Given the description of an element on the screen output the (x, y) to click on. 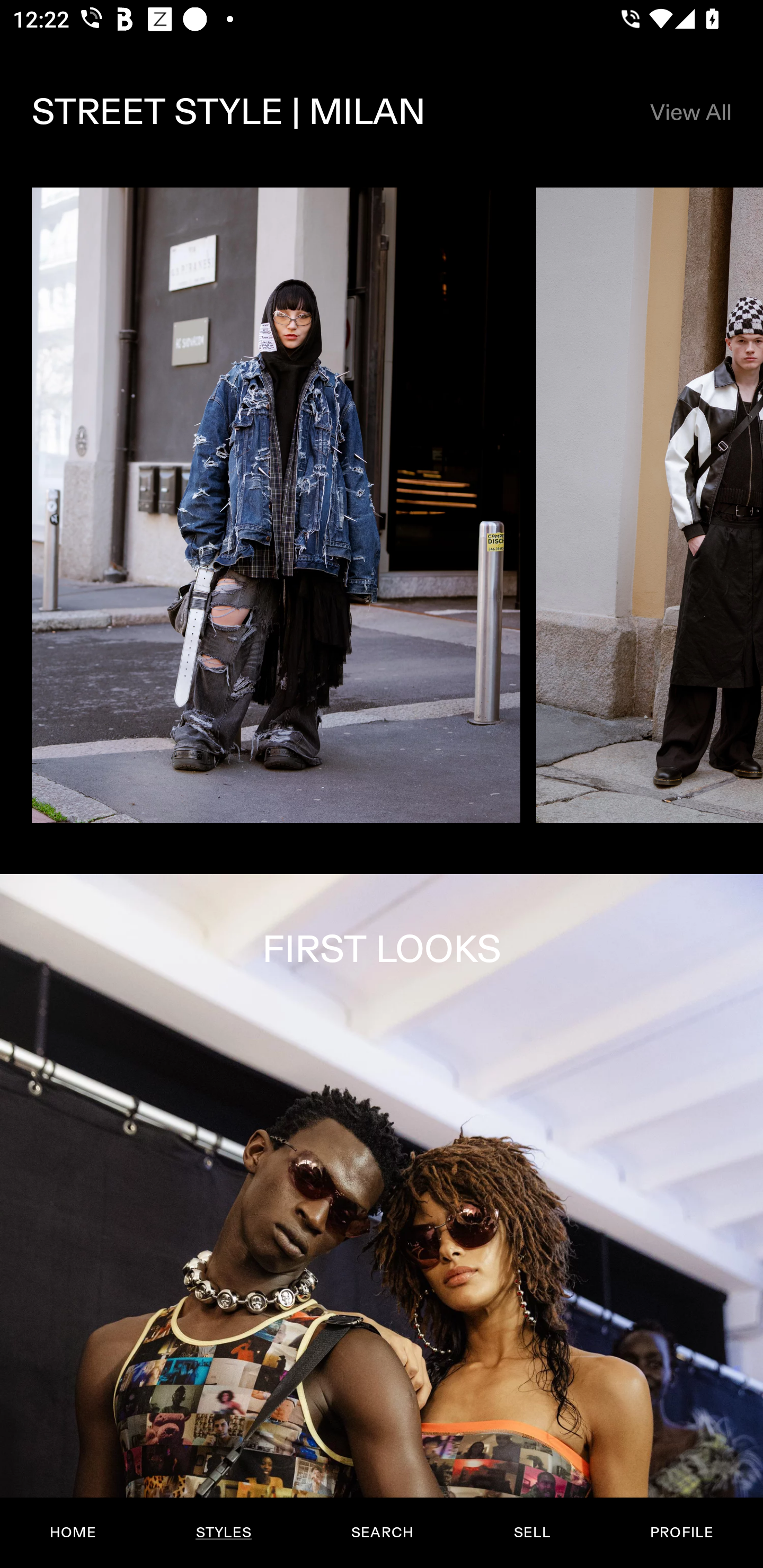
View All (690, 112)
FIRST LOOKS DIESEL FALL '24 (381, 1220)
HOME (72, 1532)
STYLES (222, 1532)
SEARCH (381, 1532)
SELL (531, 1532)
PROFILE (681, 1532)
